Given the description of an element on the screen output the (x, y) to click on. 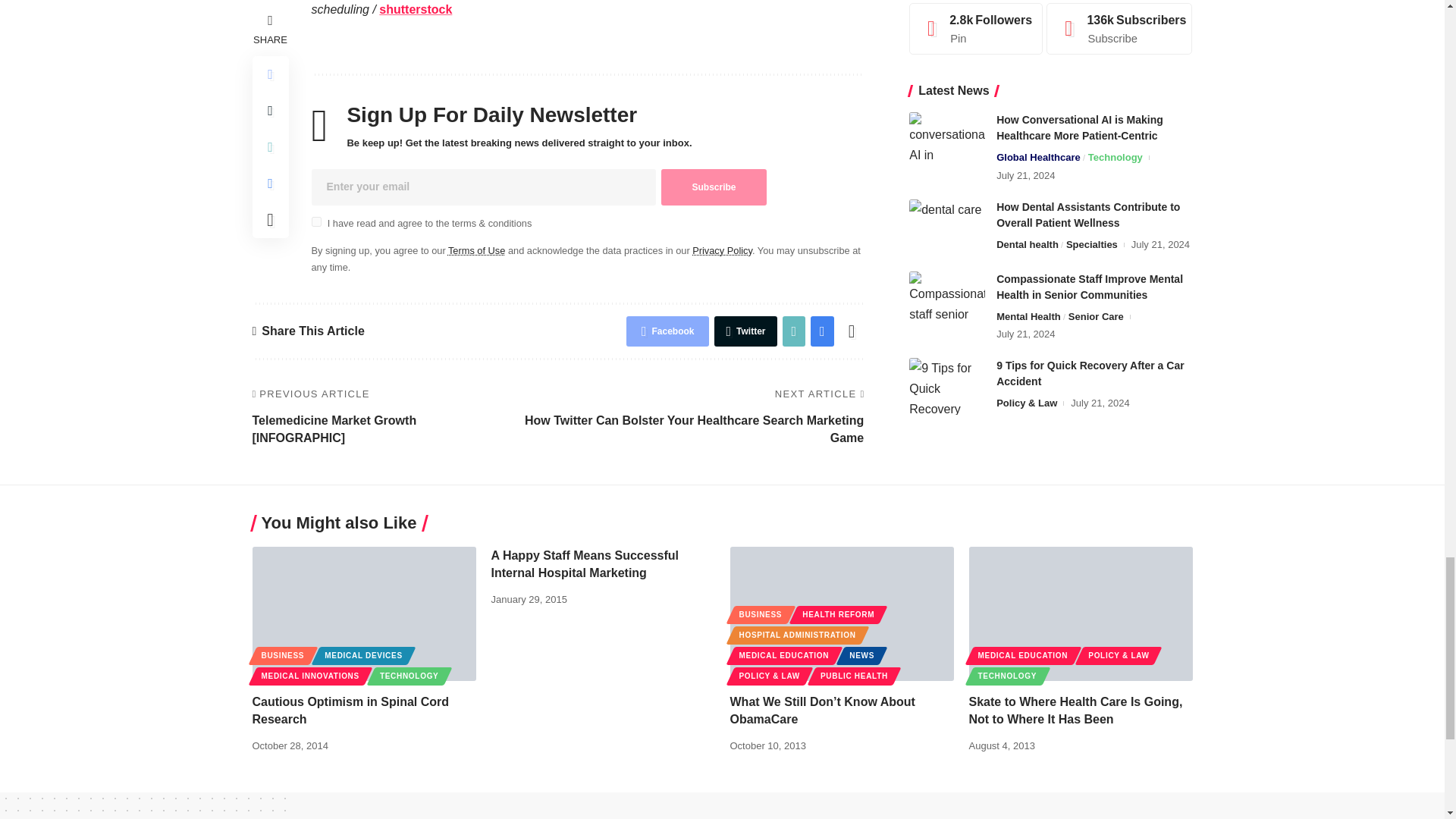
1 (315, 221)
Cautious Optimism in Spinal Cord Research (363, 613)
Subscribe (713, 186)
